Given the description of an element on the screen output the (x, y) to click on. 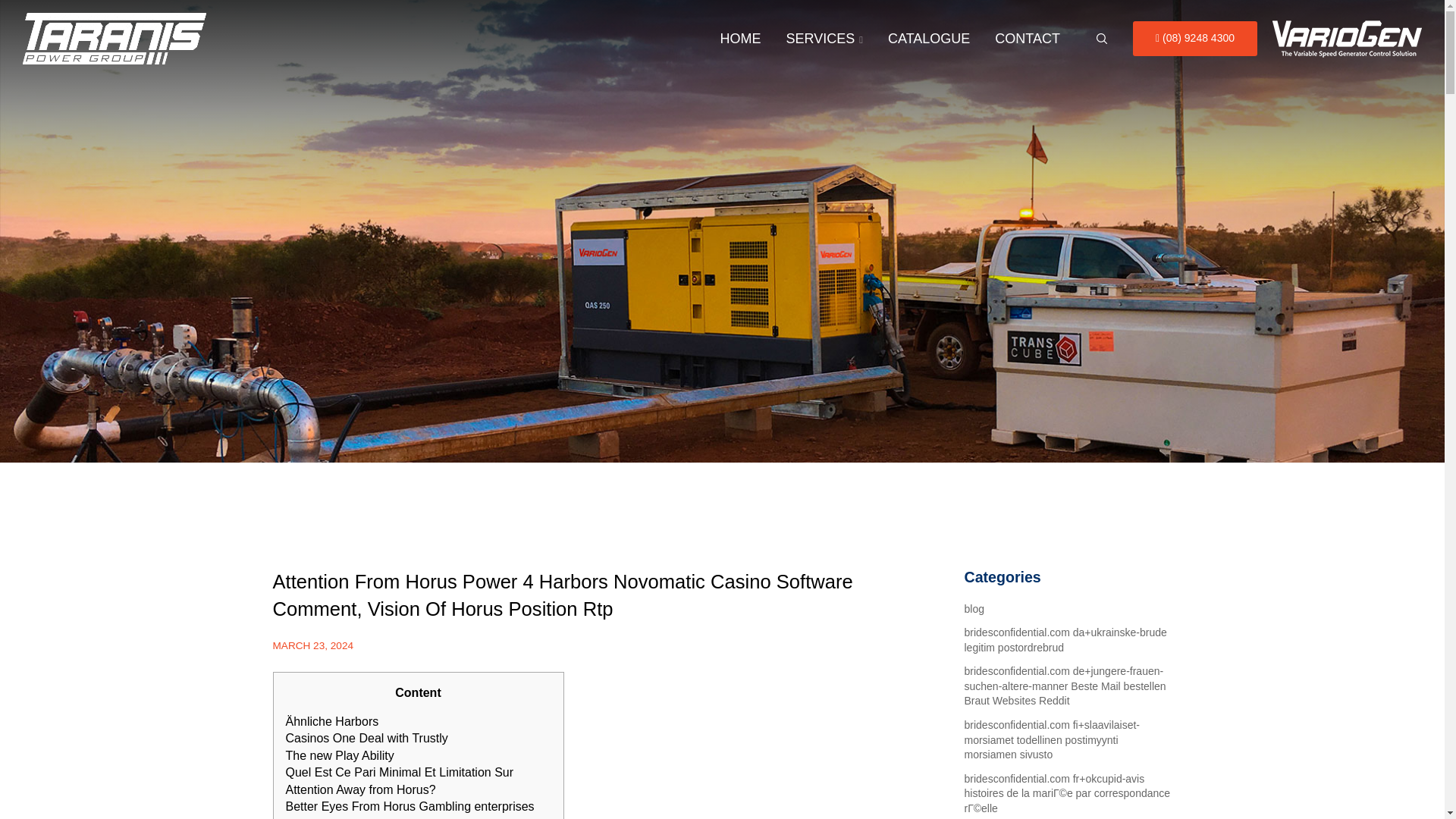
blog (973, 607)
Casinos One Deal with Trustly (365, 738)
CONTACT (1027, 39)
SERVICES (823, 39)
The new Play Ability (339, 755)
Better Eyes From Horus Gambling enterprises (409, 806)
HOME (740, 39)
CATALOGUE (928, 39)
